Given the description of an element on the screen output the (x, y) to click on. 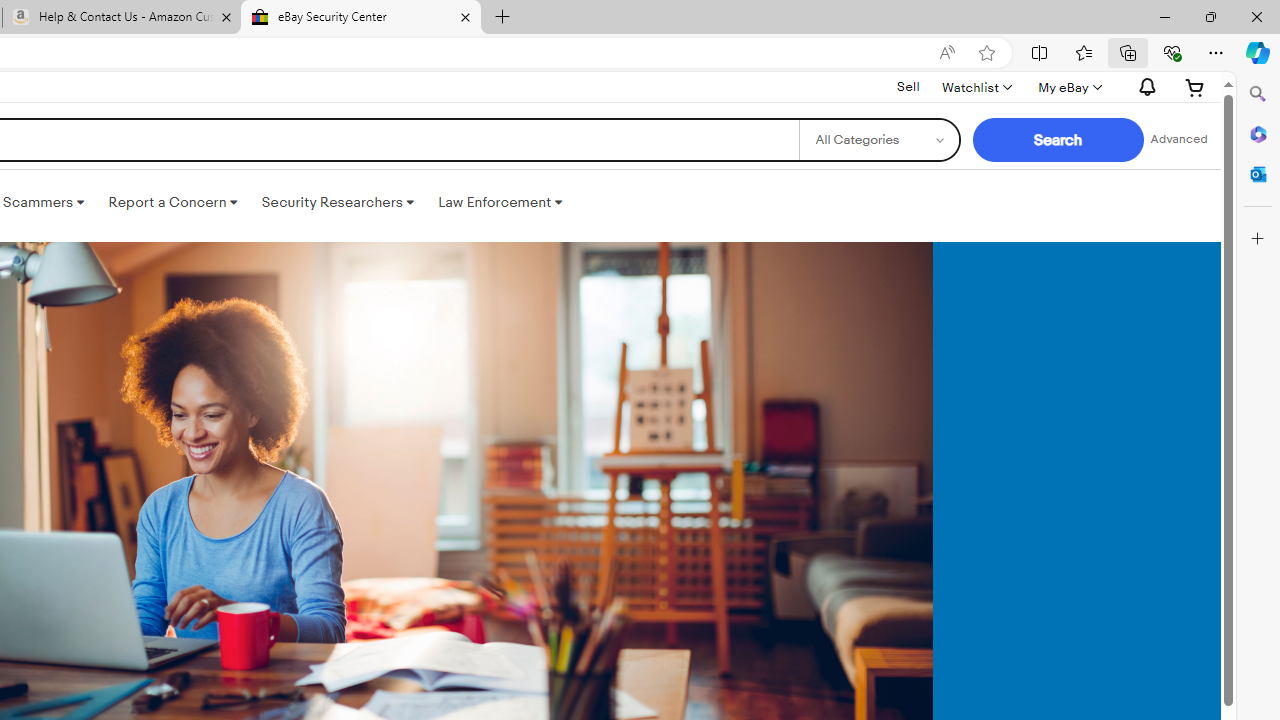
Report a Concern  (173, 202)
eBay Security Center (360, 17)
Law Enforcement  (500, 202)
Advanced Search (1179, 139)
AutomationID: gh-eb-Alerts (1144, 87)
Expand Cart (1195, 87)
My eBay (1068, 87)
Law Enforcement  (500, 202)
Watchlist (975, 87)
